Given the description of an element on the screen output the (x, y) to click on. 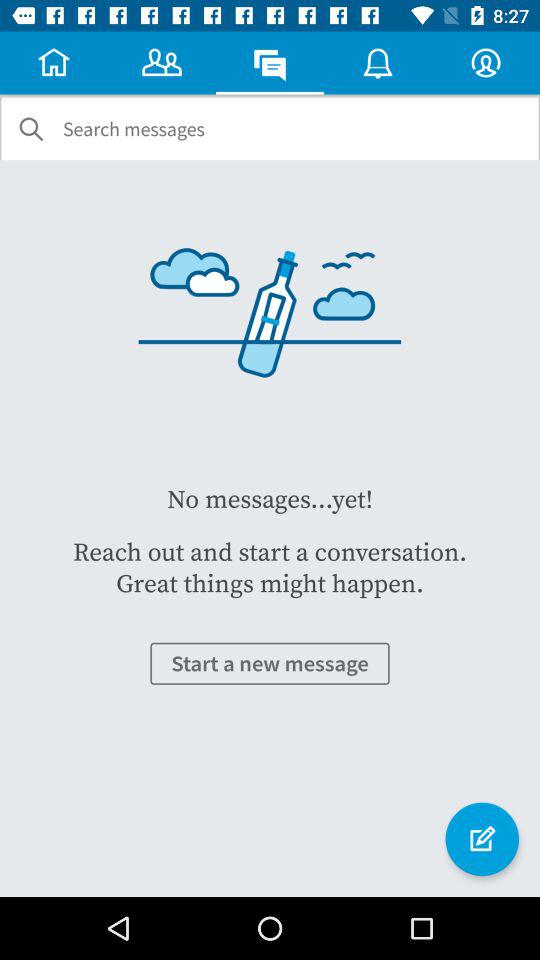
press the search messages (133, 129)
